Given the description of an element on the screen output the (x, y) to click on. 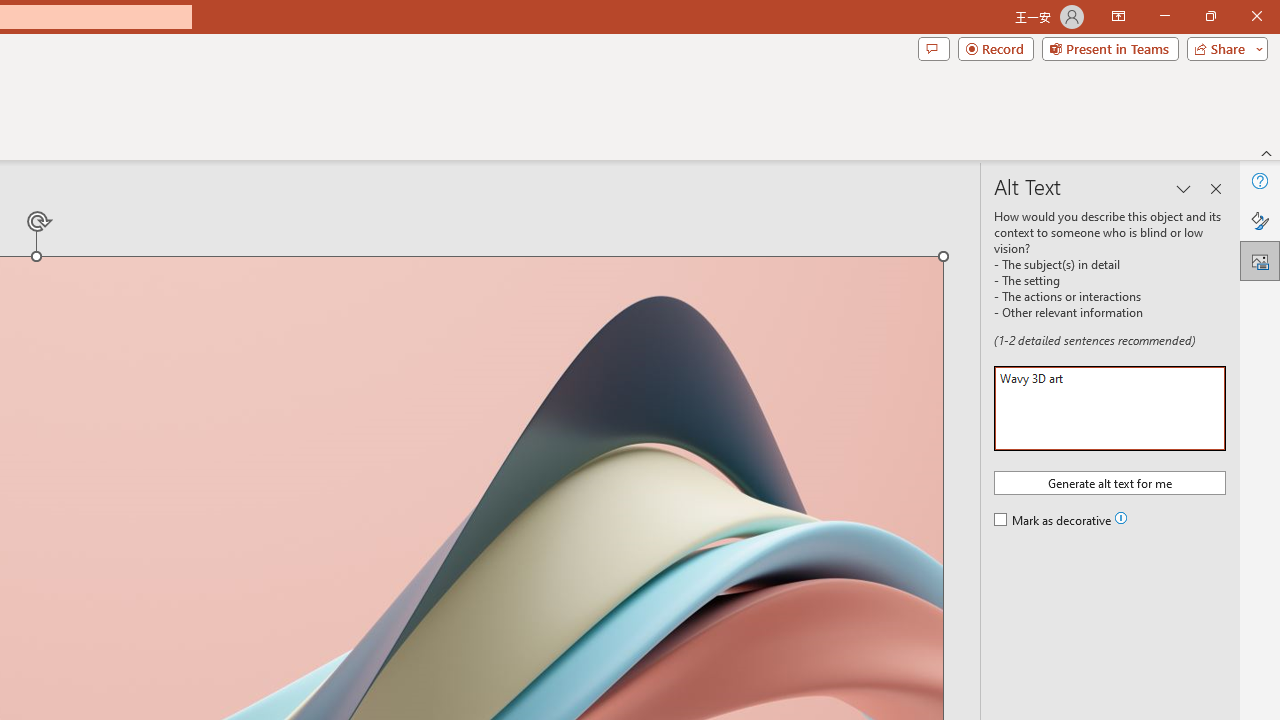
Mark as decorative (1054, 521)
